Given the description of an element on the screen output the (x, y) to click on. 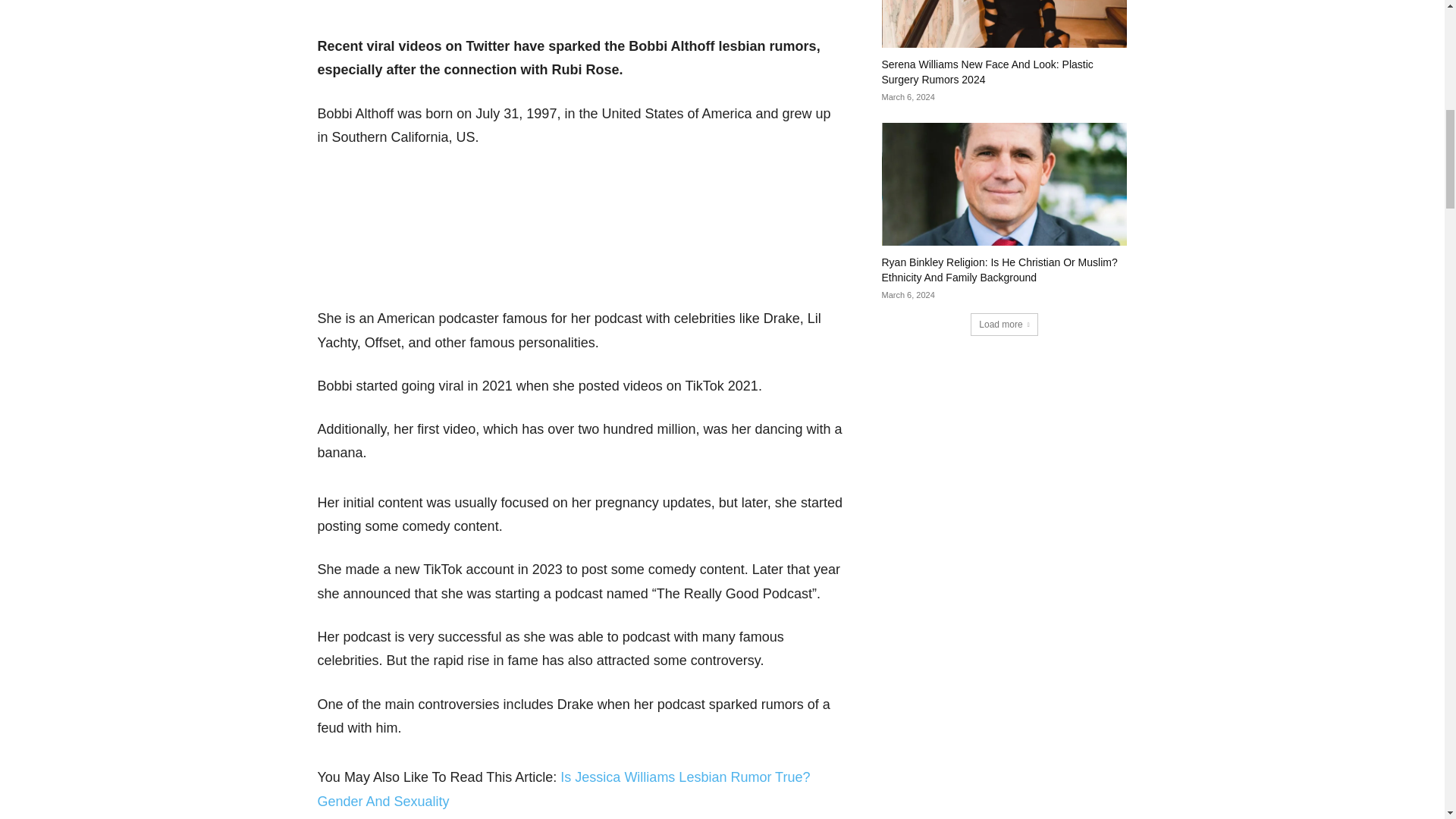
Is Jessica Williams Lesbian Rumor True? Gender And Sexuality (563, 788)
Advertisement (580, 234)
